Given the description of an element on the screen output the (x, y) to click on. 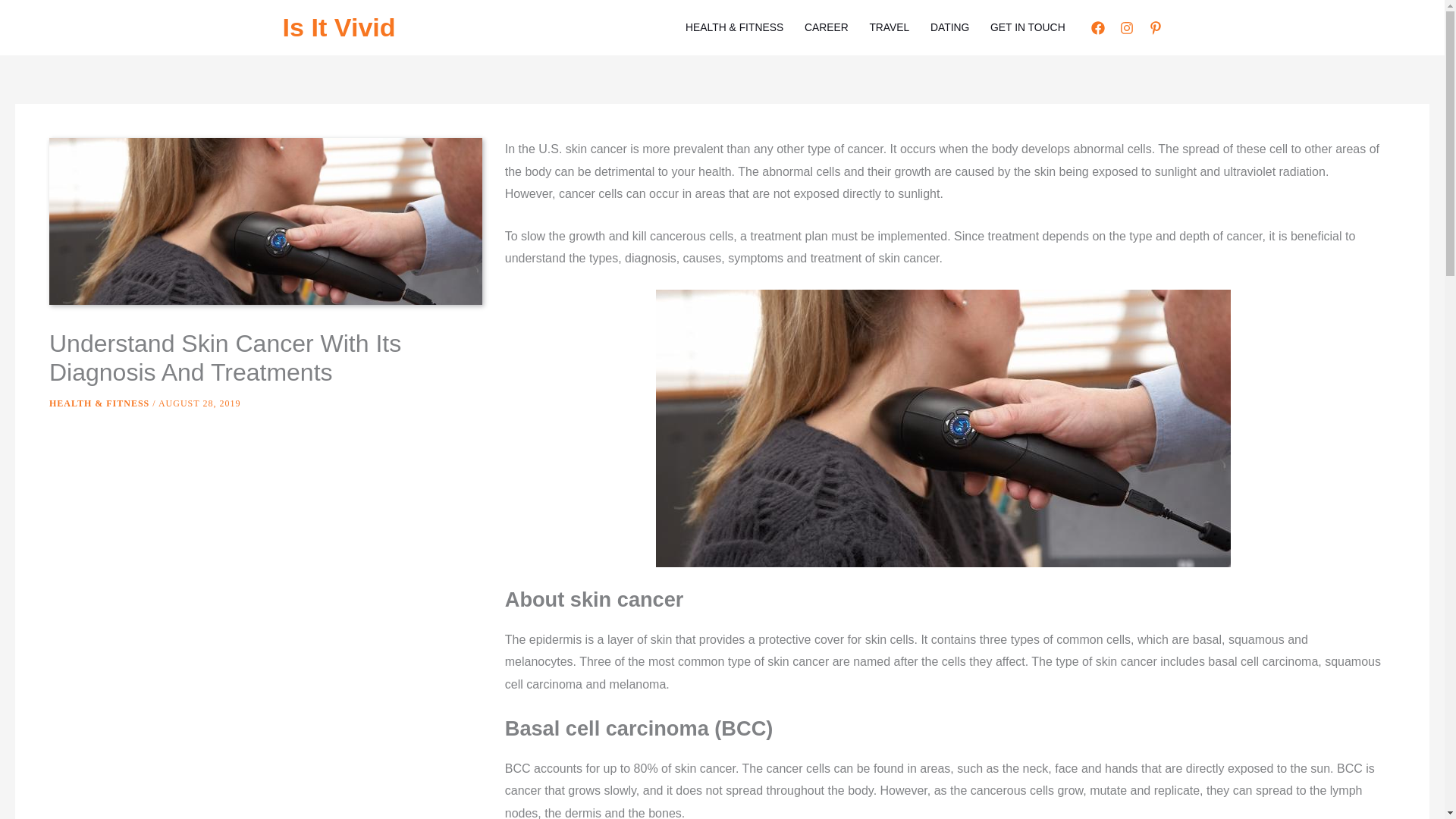
DATING (949, 27)
CAREER (826, 27)
Is It Vivid (338, 27)
TRAVEL (889, 27)
GET IN TOUCH (1027, 27)
